Given the description of an element on the screen output the (x, y) to click on. 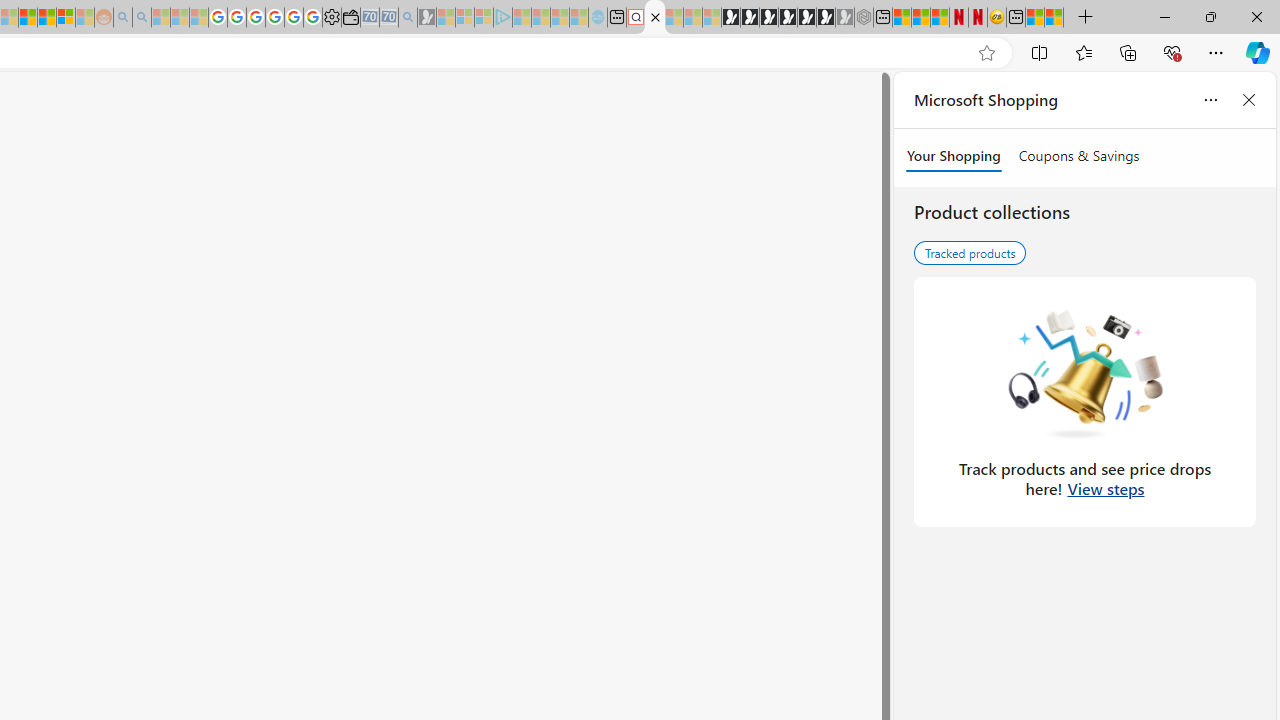
Wallet (350, 17)
Bing Real Estate - Home sales and rental listings - Sleeping (408, 17)
